Given the description of an element on the screen output the (x, y) to click on. 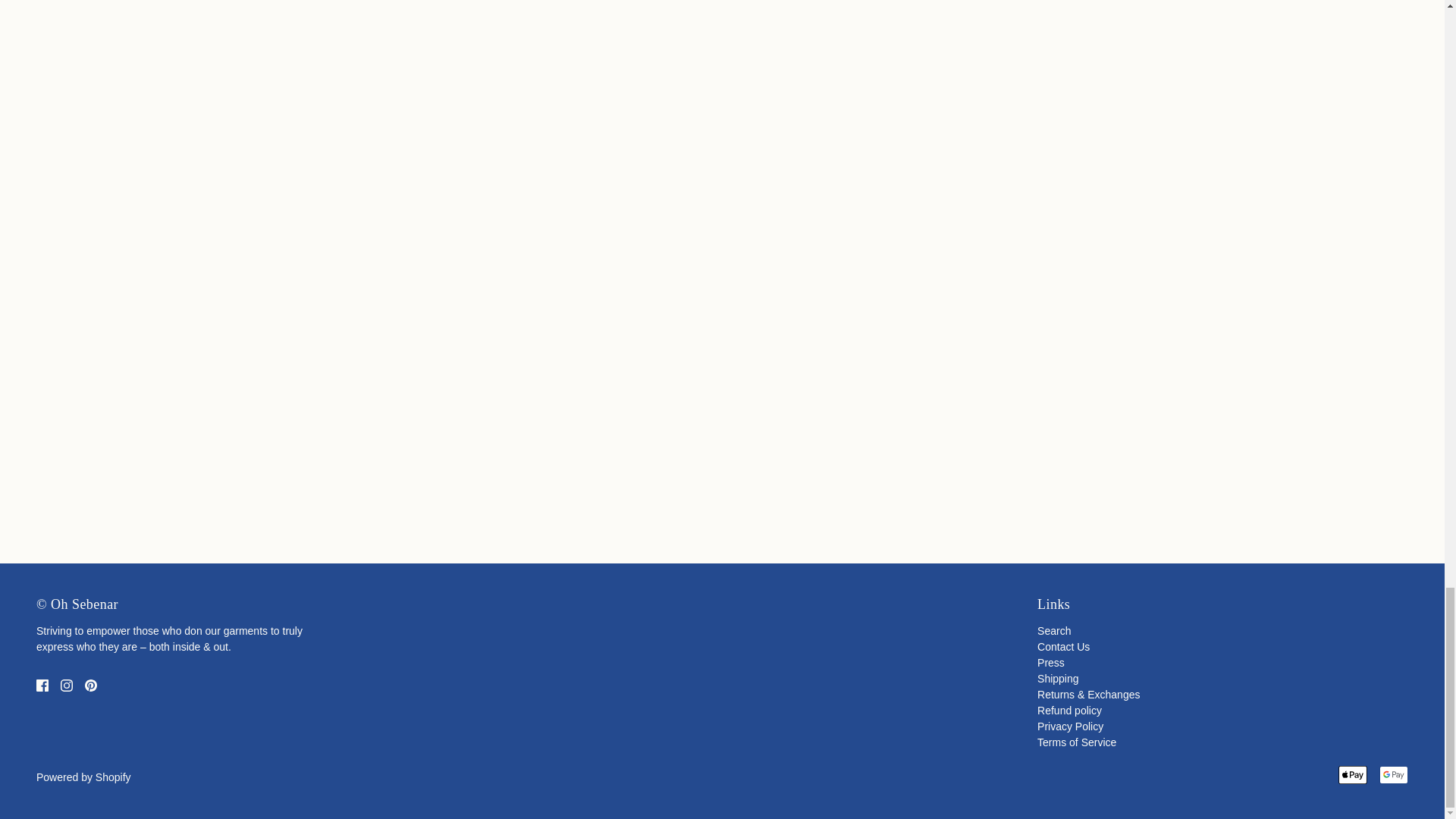
Refund policy (1069, 710)
Press (1050, 662)
Terms of Service (1076, 742)
Contact Us (1062, 646)
Shipping (1057, 678)
Privacy Policy (1069, 726)
Google Pay (1392, 774)
Apple Pay (1352, 774)
Search (1053, 630)
